Given the description of an element on the screen output the (x, y) to click on. 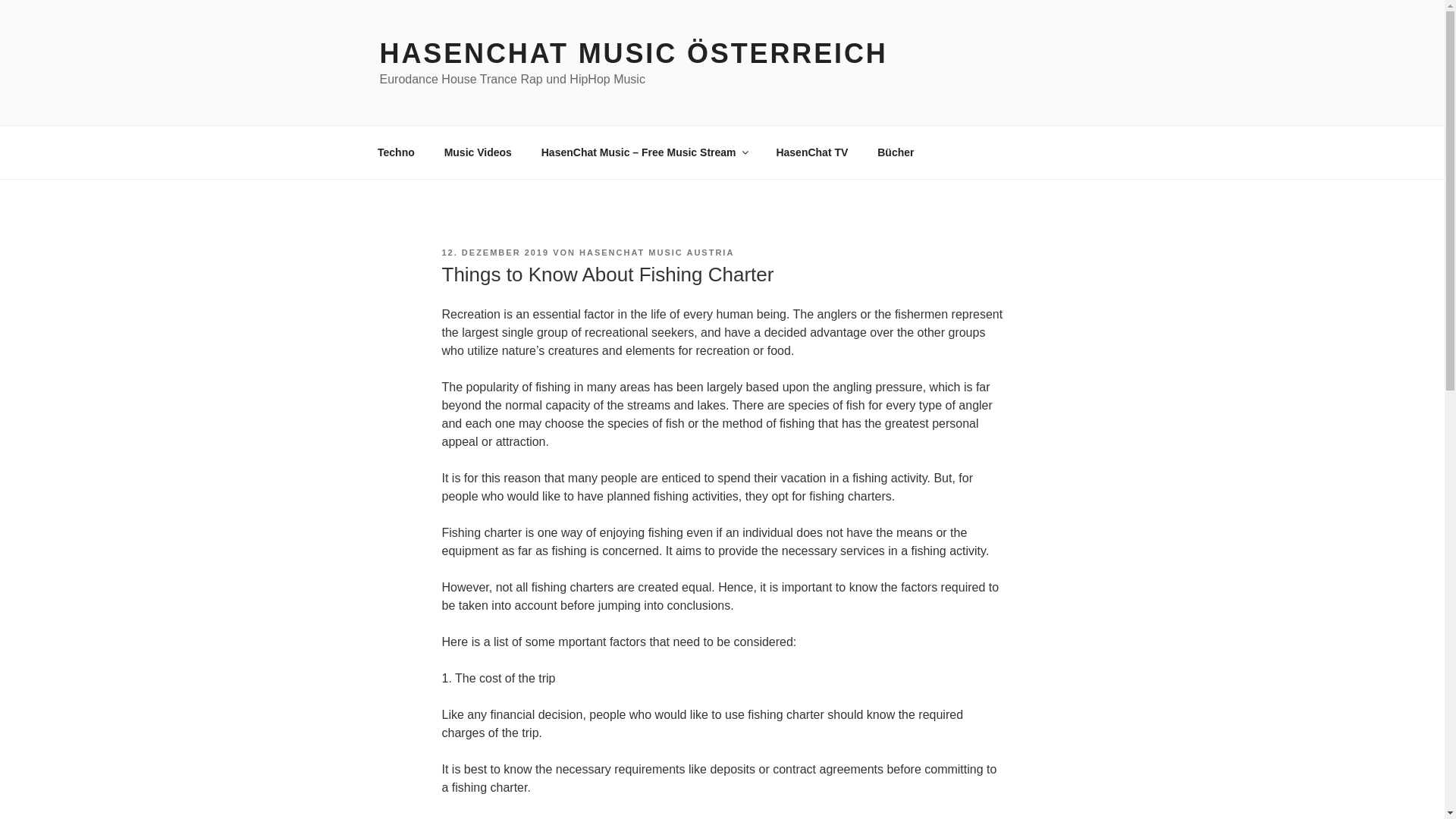
12. DEZEMBER 2019 (494, 252)
HASENCHAT MUSIC AUSTRIA (656, 252)
HasenChat TV (811, 151)
Techno (396, 151)
Music Videos (477, 151)
